Given the description of an element on the screen output the (x, y) to click on. 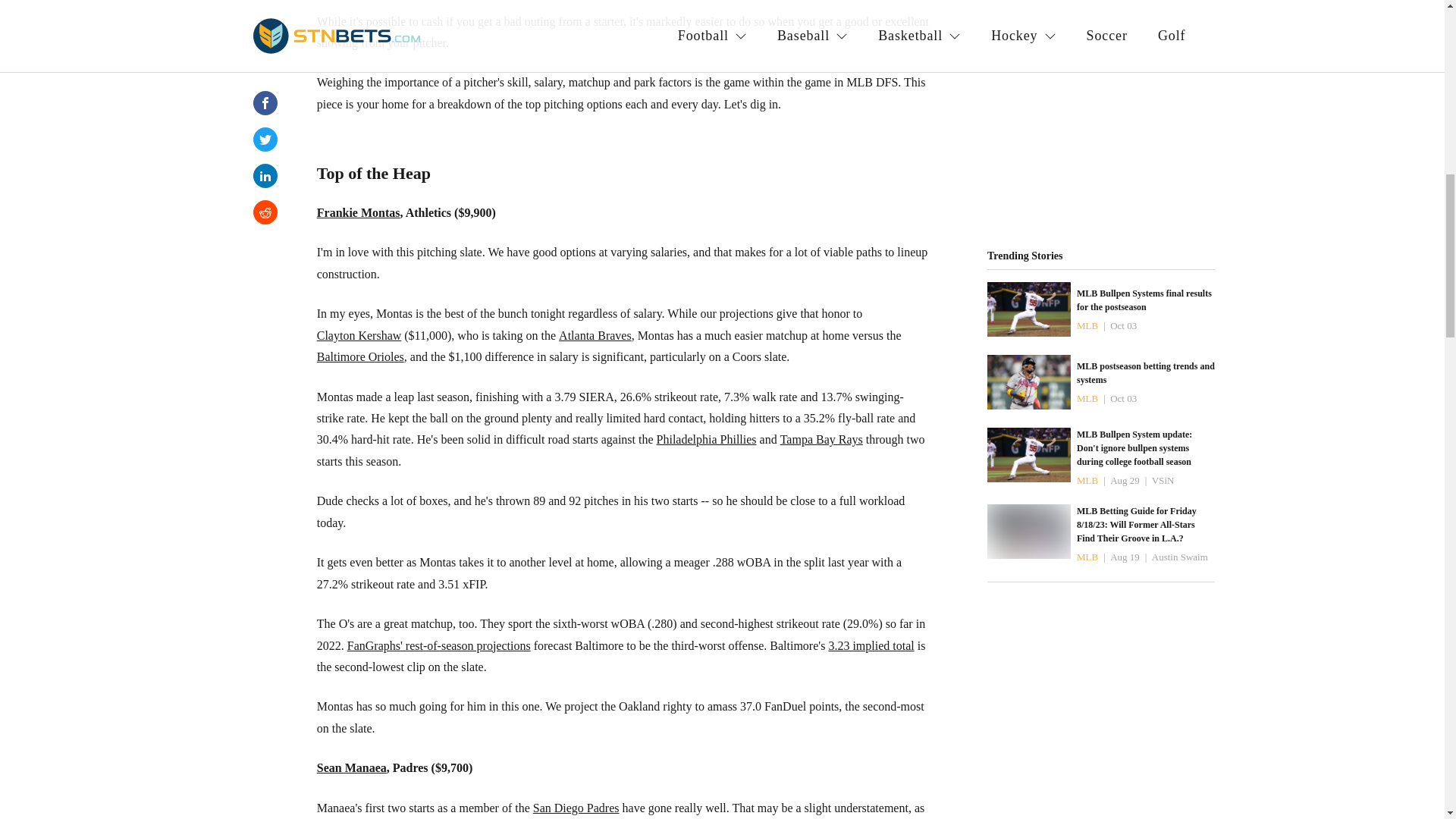
Philadelphia Phillies (706, 439)
Frankie Montas (358, 212)
Atlanta Braves (595, 335)
Clayton Kershaw (359, 335)
Baltimore Orioles (360, 356)
